Given the description of an element on the screen output the (x, y) to click on. 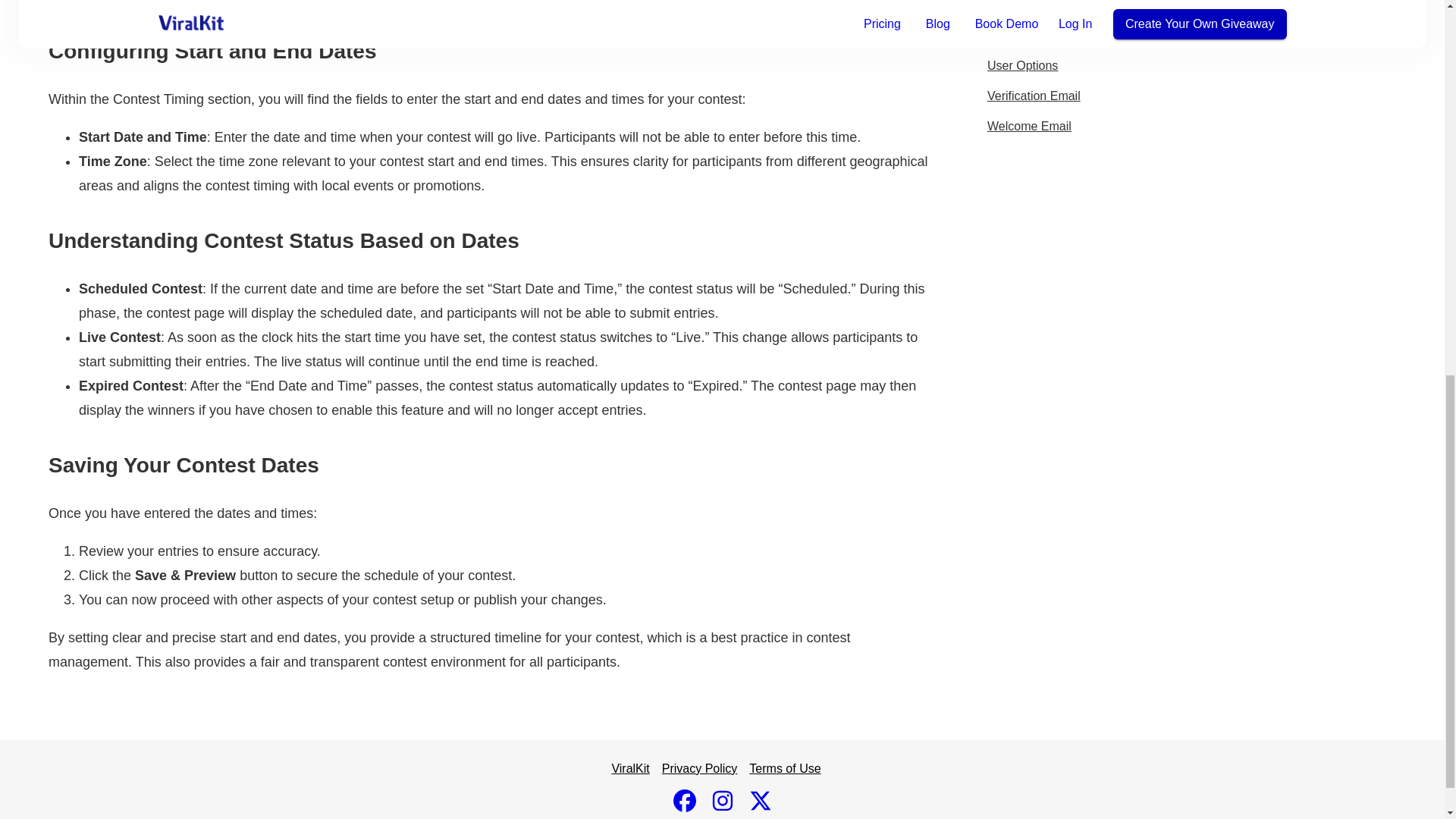
Terms of Use (785, 768)
Verification Email (1033, 95)
Welcome Email (1029, 126)
User Options (1022, 65)
Terms and Conditions (1046, 35)
Privacy Policy (700, 768)
ViralKit (630, 768)
Subscribe To Newsletter (1052, 7)
Opens a widget where you can find more information (1374, 69)
